Given the description of an element on the screen output the (x, y) to click on. 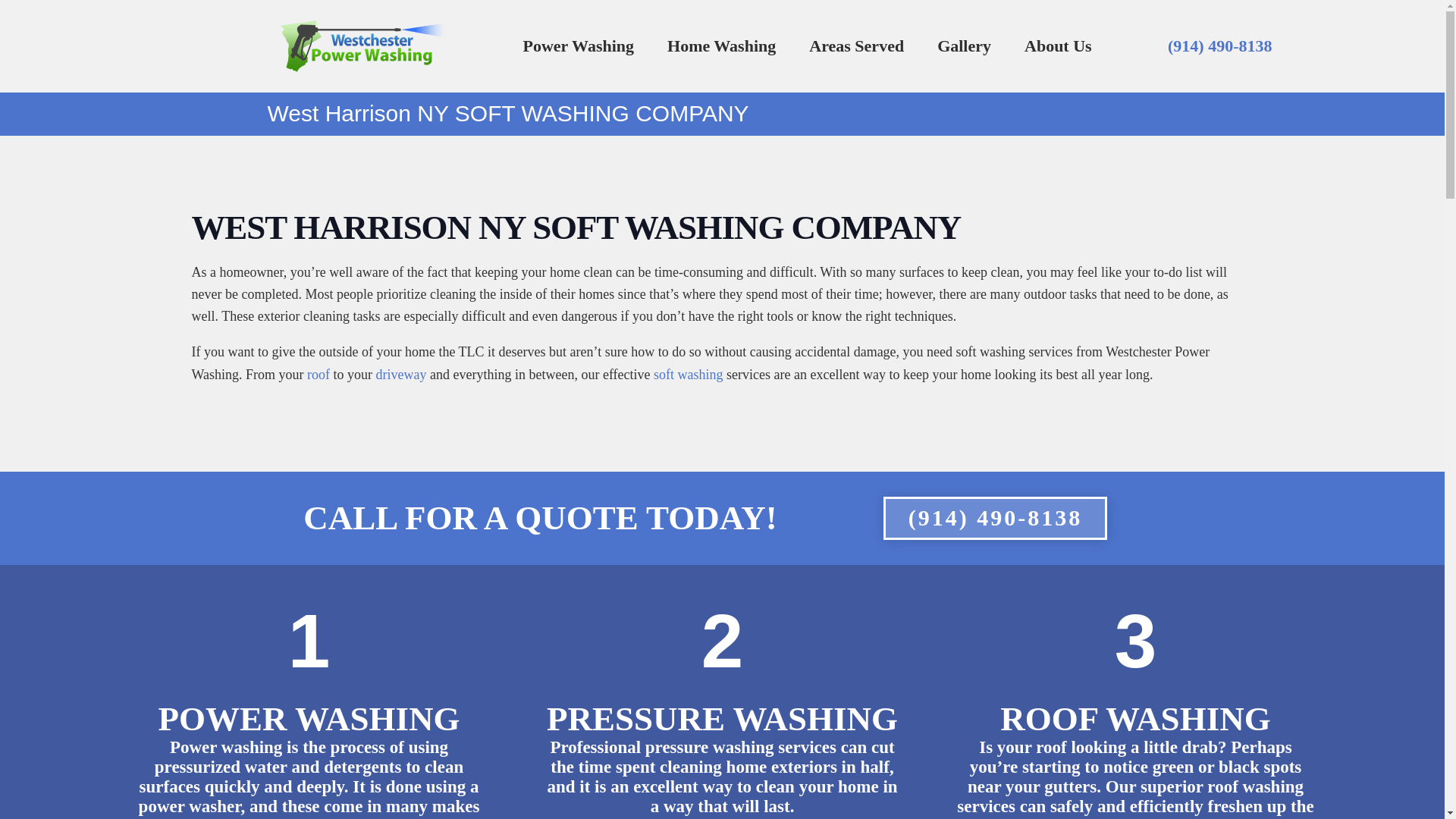
Gallery (963, 46)
Power Washing (578, 46)
driveway (400, 374)
Areas Served (855, 46)
soft washing (688, 374)
roof (318, 374)
About Us (1057, 46)
Home Washing (721, 46)
